Given the description of an element on the screen output the (x, y) to click on. 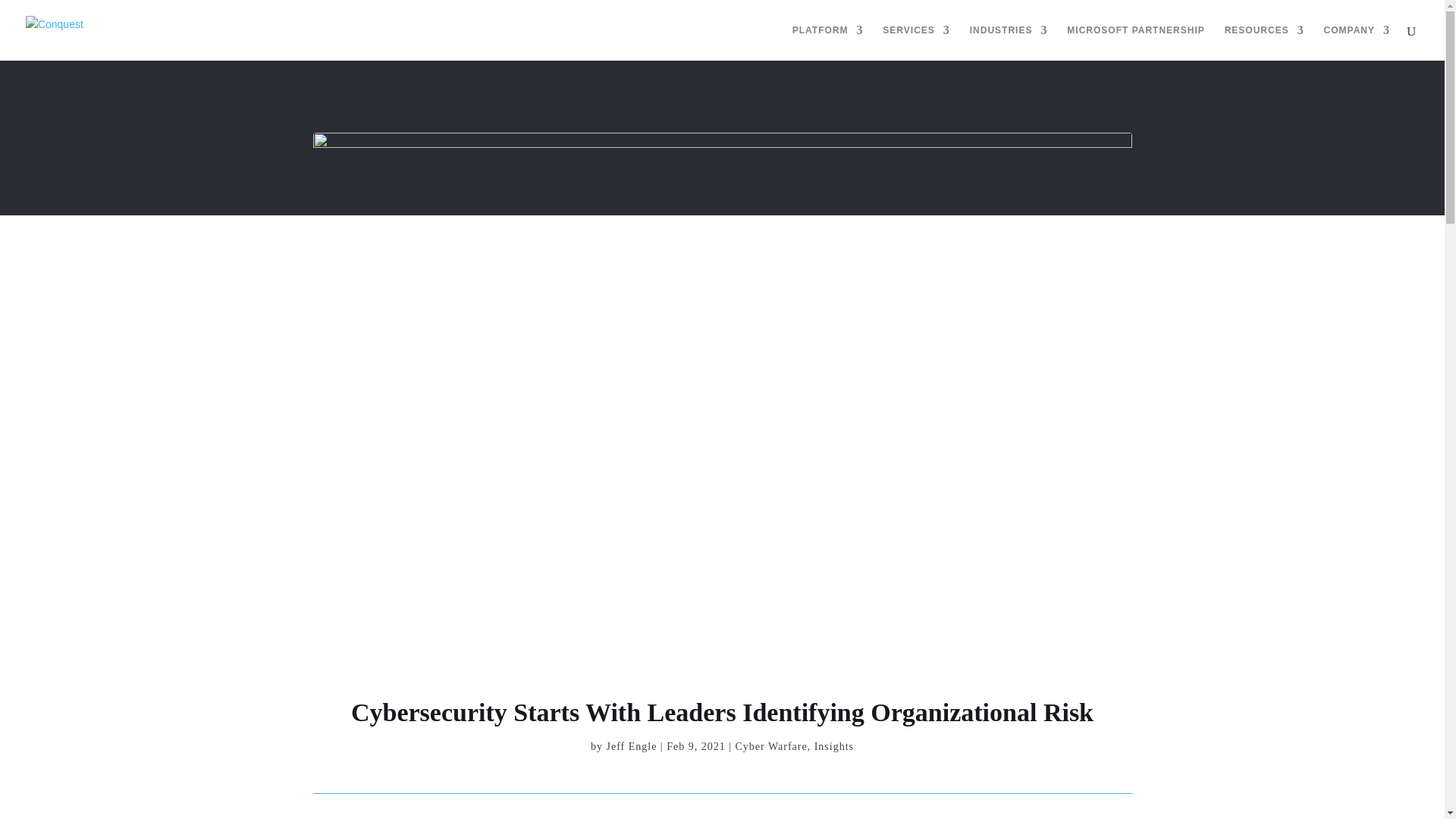
MICROSOFT PARTNERSHIP (1135, 42)
COMPANY (1356, 42)
PLATFORM (827, 42)
Jeff Engle (630, 746)
Cyber Warfare (770, 746)
SERVICES (915, 42)
Posts by Jeff Engle (630, 746)
INDUSTRIES (1008, 42)
RESOURCES (1264, 42)
Insights (833, 746)
